Given the description of an element on the screen output the (x, y) to click on. 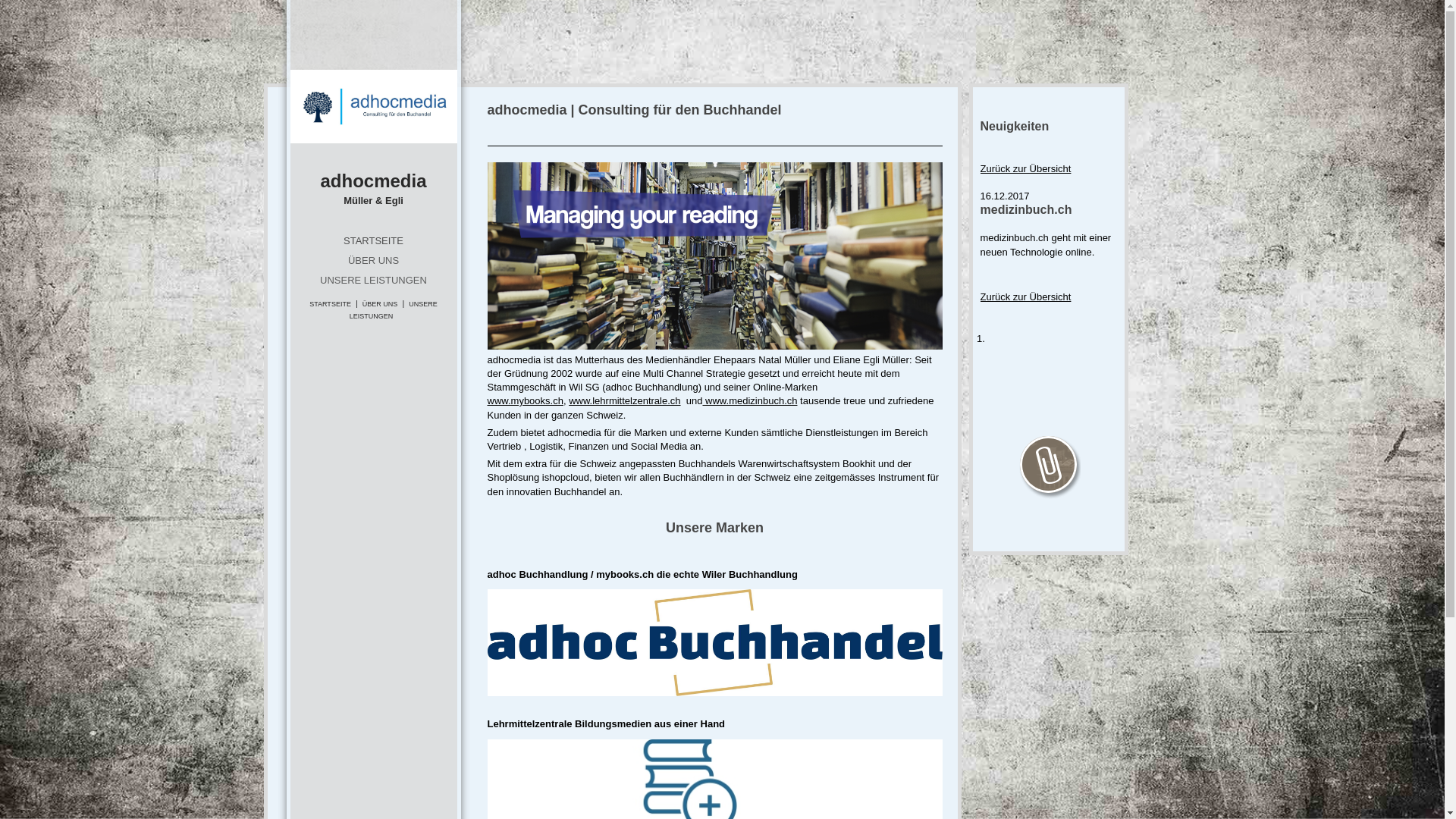
www.lehrmittelzentrale.ch Element type: text (624, 400)
STARTSEITE Element type: text (372, 240)
  Element type: text (372, 106)
UNSERE LEISTUNGEN Element type: text (393, 309)
www.mybooks.ch Element type: text (524, 400)
STARTSEITE Element type: text (330, 303)
www.medizinbuch.ch Element type: text (749, 400)
UNSERE LEISTUNGEN Element type: text (372, 279)
